Given the description of an element on the screen output the (x, y) to click on. 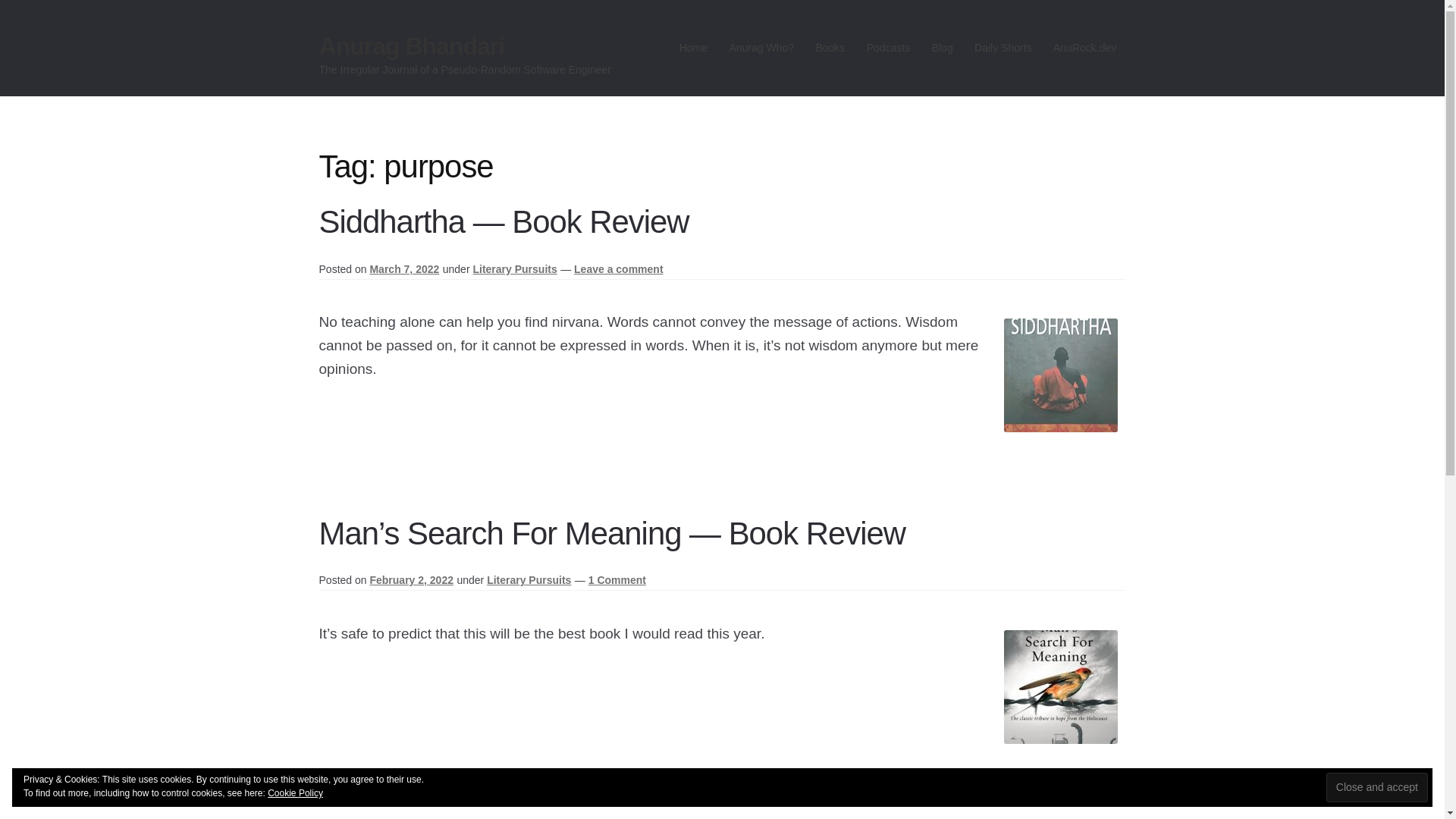
Close and accept (1377, 787)
Podcasts (887, 47)
Blog (941, 47)
Daily Shorts (1003, 47)
Home (692, 47)
Books (829, 47)
Anurag Bhandari (411, 45)
Anurag Who? (761, 47)
AnuRock.dev (1084, 47)
